Given the description of an element on the screen output the (x, y) to click on. 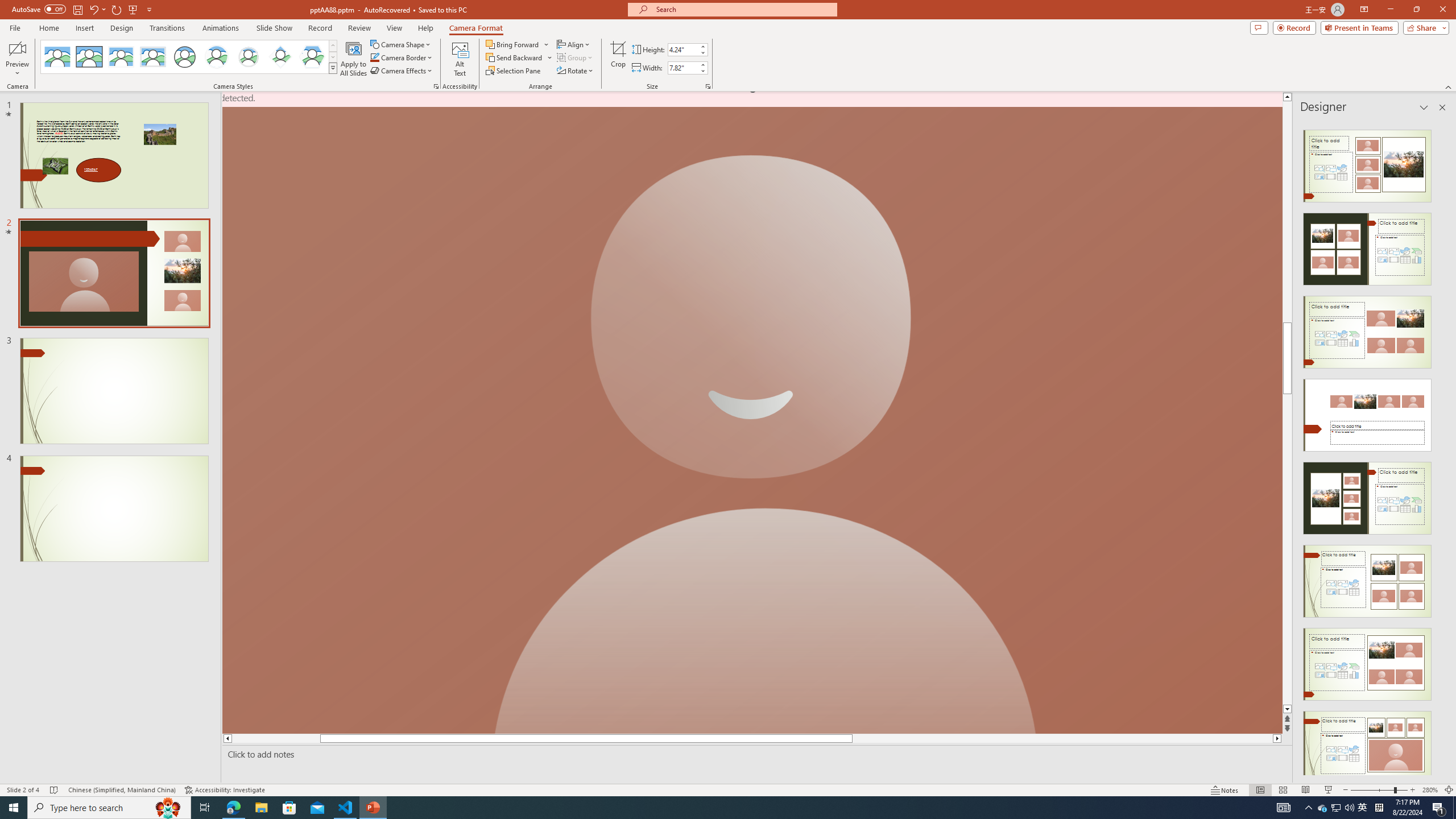
Center Shadow Hexagon (312, 56)
Selection Pane... (513, 69)
Camera Border (401, 56)
Rotate (575, 69)
Simple Frame Circle (184, 56)
